Given the description of an element on the screen output the (x, y) to click on. 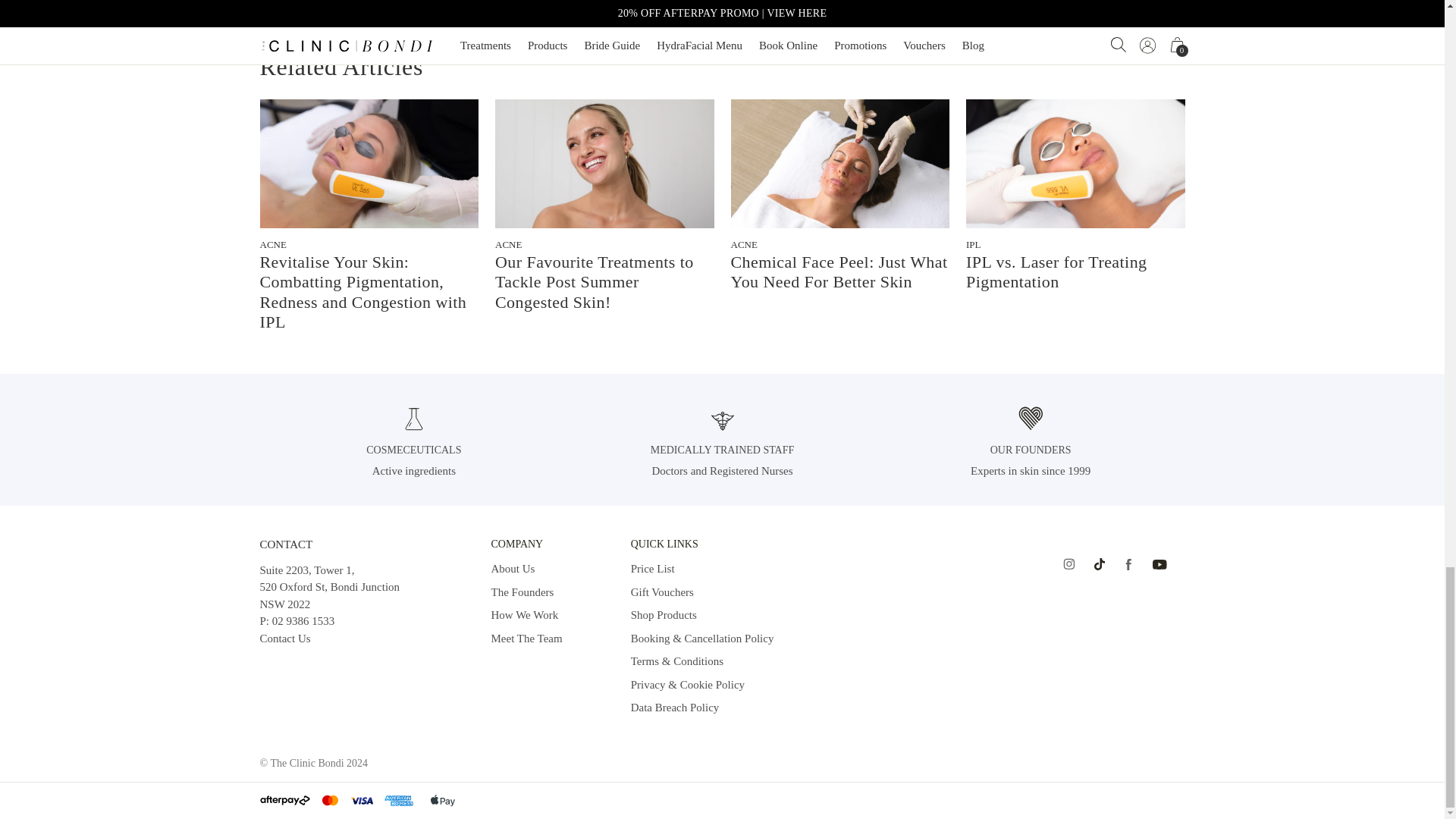
Contact The Clinic (284, 638)
The Clinic Bondi on Instagram (1068, 563)
The Clinic Bondi on YouTube (1160, 563)
tel:0293861533 (303, 621)
